Given the description of an element on the screen output the (x, y) to click on. 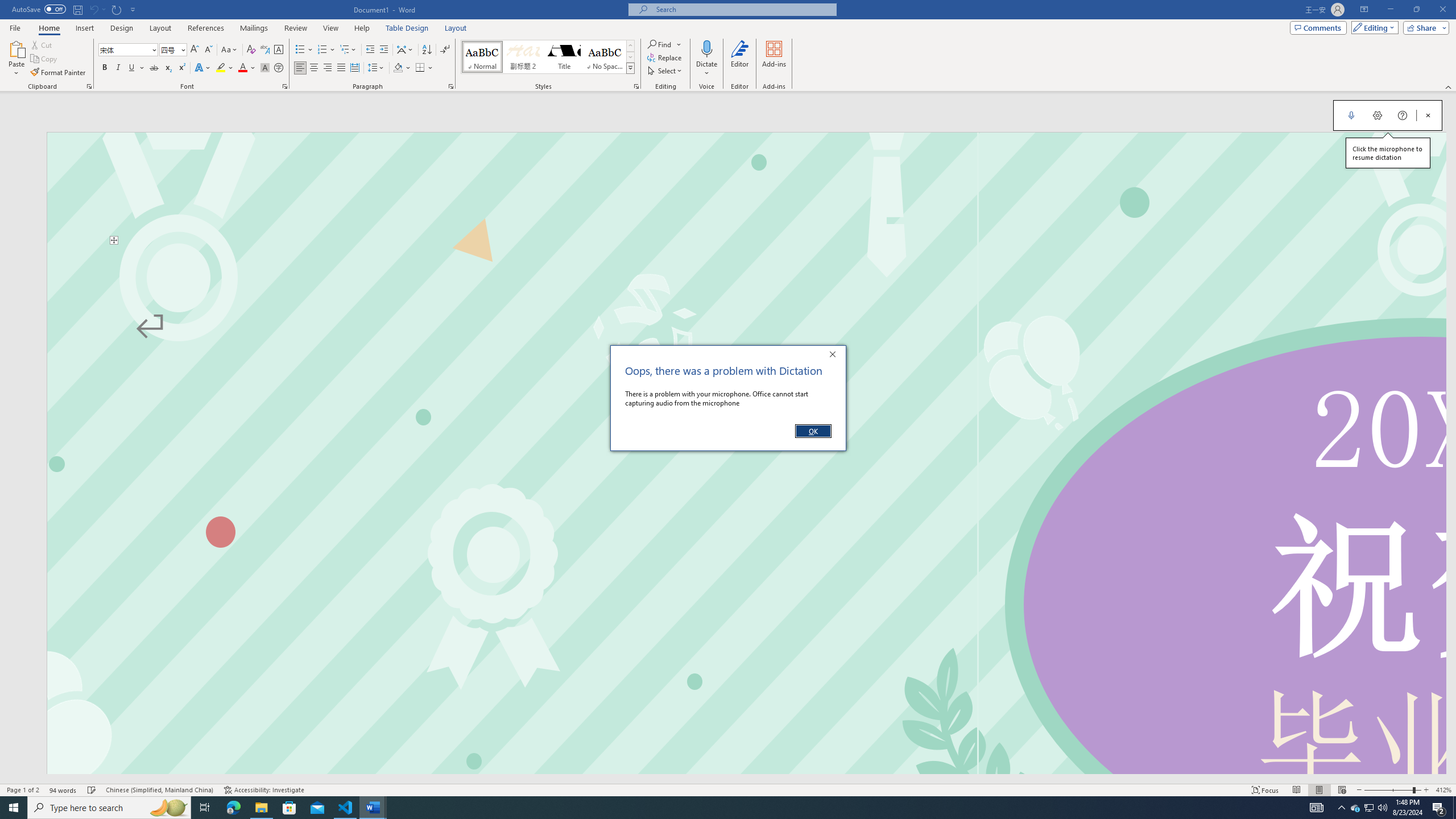
Page Number Page 1 of 2 (22, 790)
